Given the description of an element on the screen output the (x, y) to click on. 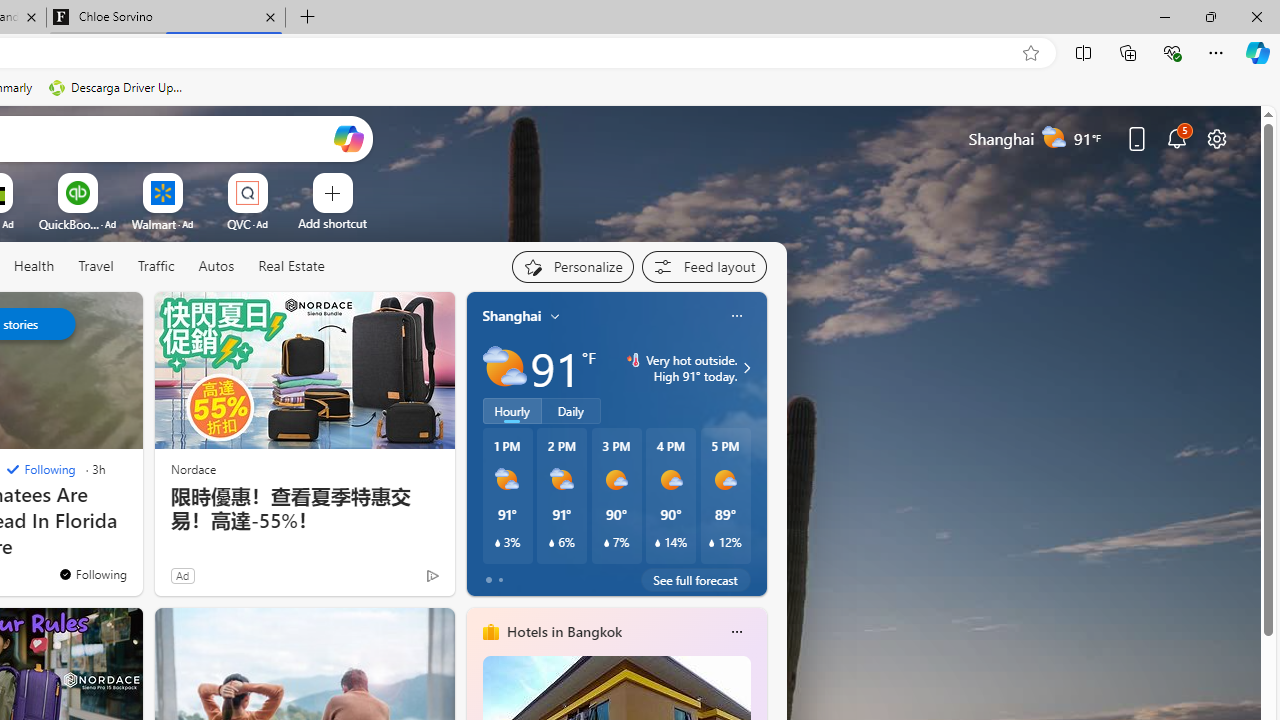
Autos (215, 265)
Shanghai (511, 315)
Real Estate (291, 265)
Hide this story (82, 315)
Real Estate (290, 267)
Open Copilot (347, 138)
Health (34, 265)
